Given the description of an element on the screen output the (x, y) to click on. 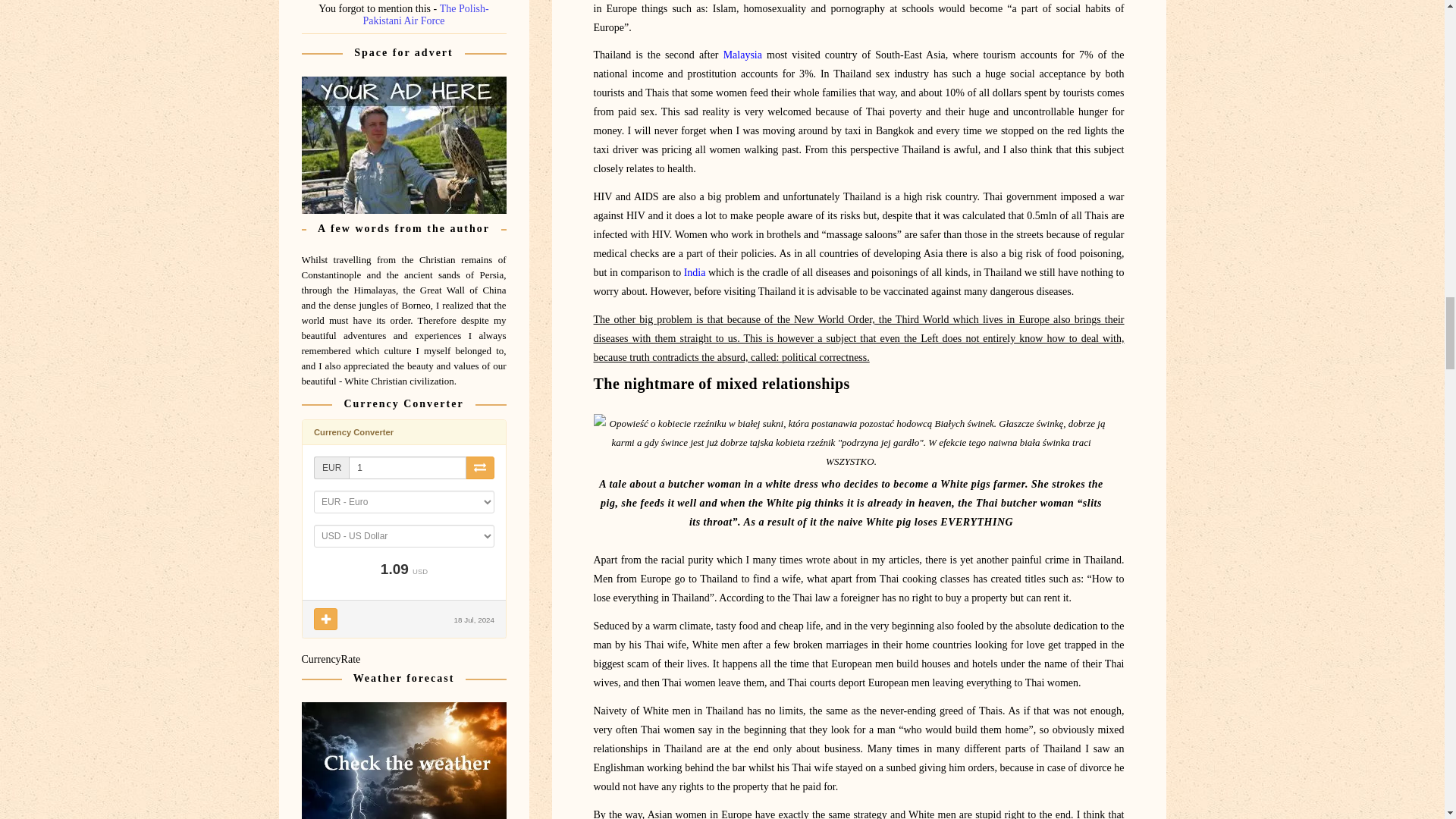
Currency Converter: CurrencyRate.Today (403, 528)
